Given the description of an element on the screen output the (x, y) to click on. 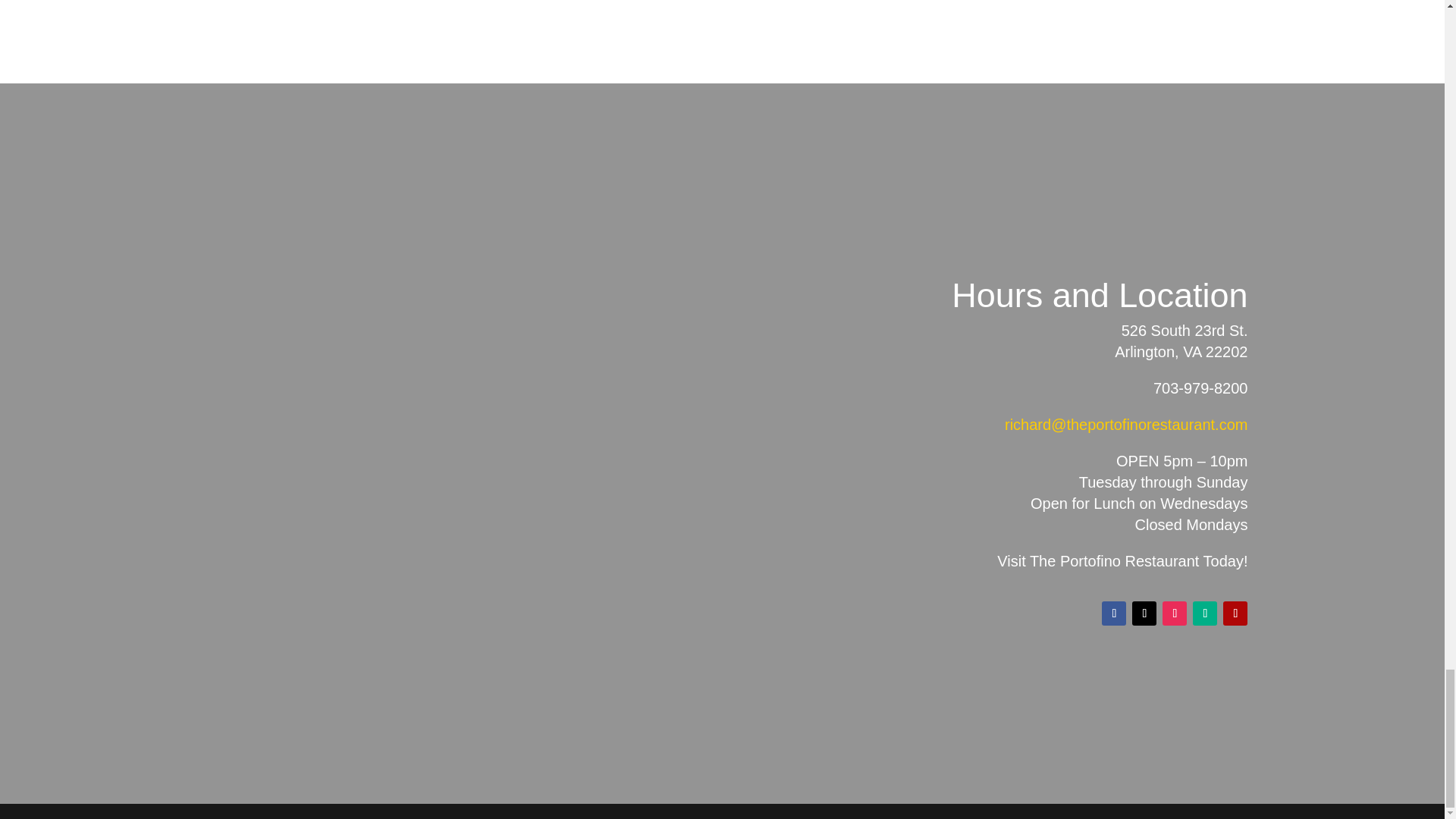
Follow on Yelp (1235, 613)
Follow on Instagram (1173, 613)
Follow on TripAdvisor (1204, 613)
Follow on Facebook (1113, 613)
Follow on X (1144, 613)
